Given the description of an element on the screen output the (x, y) to click on. 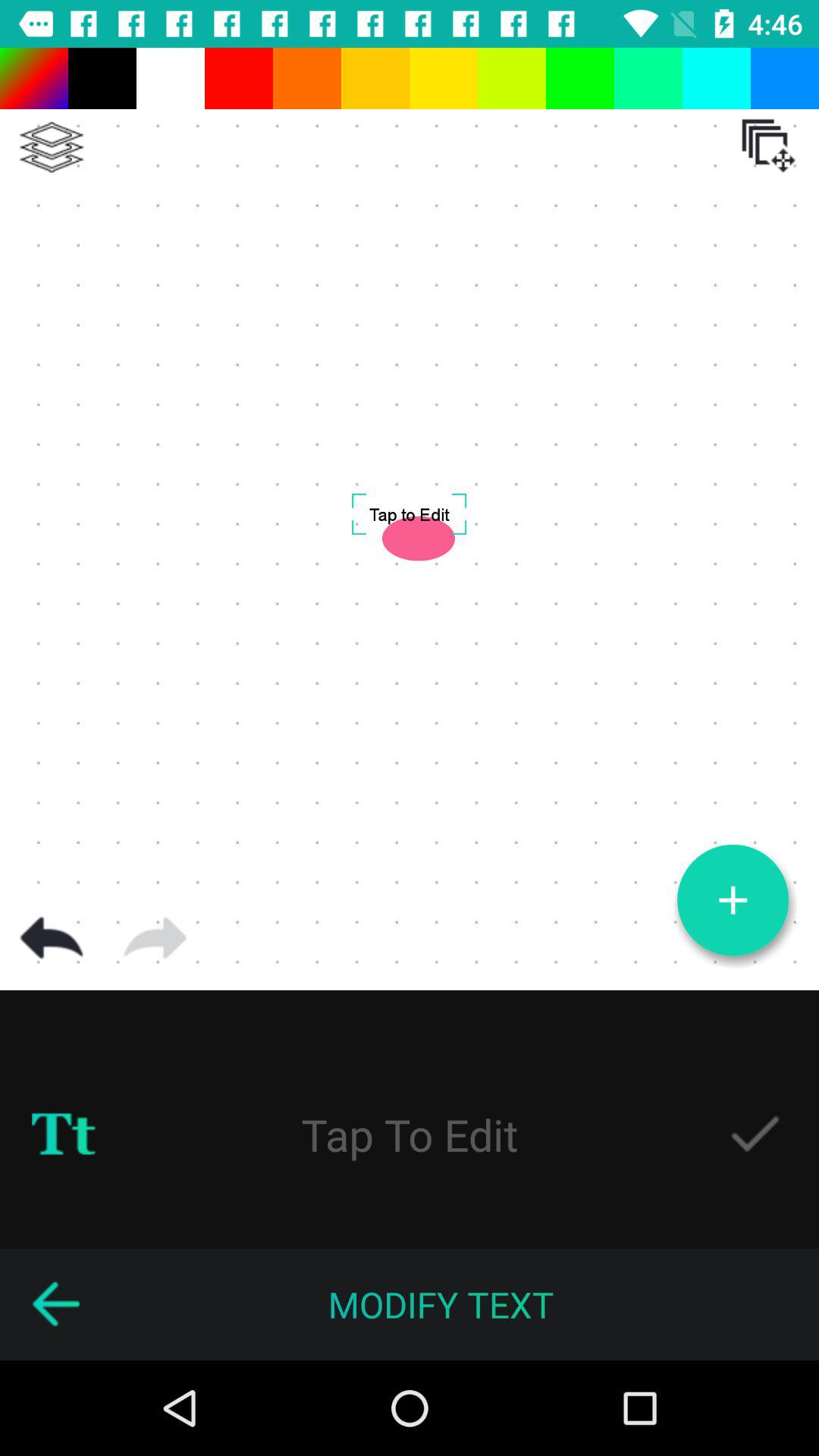
tap to edit (409, 1134)
